Given the description of an element on the screen output the (x, y) to click on. 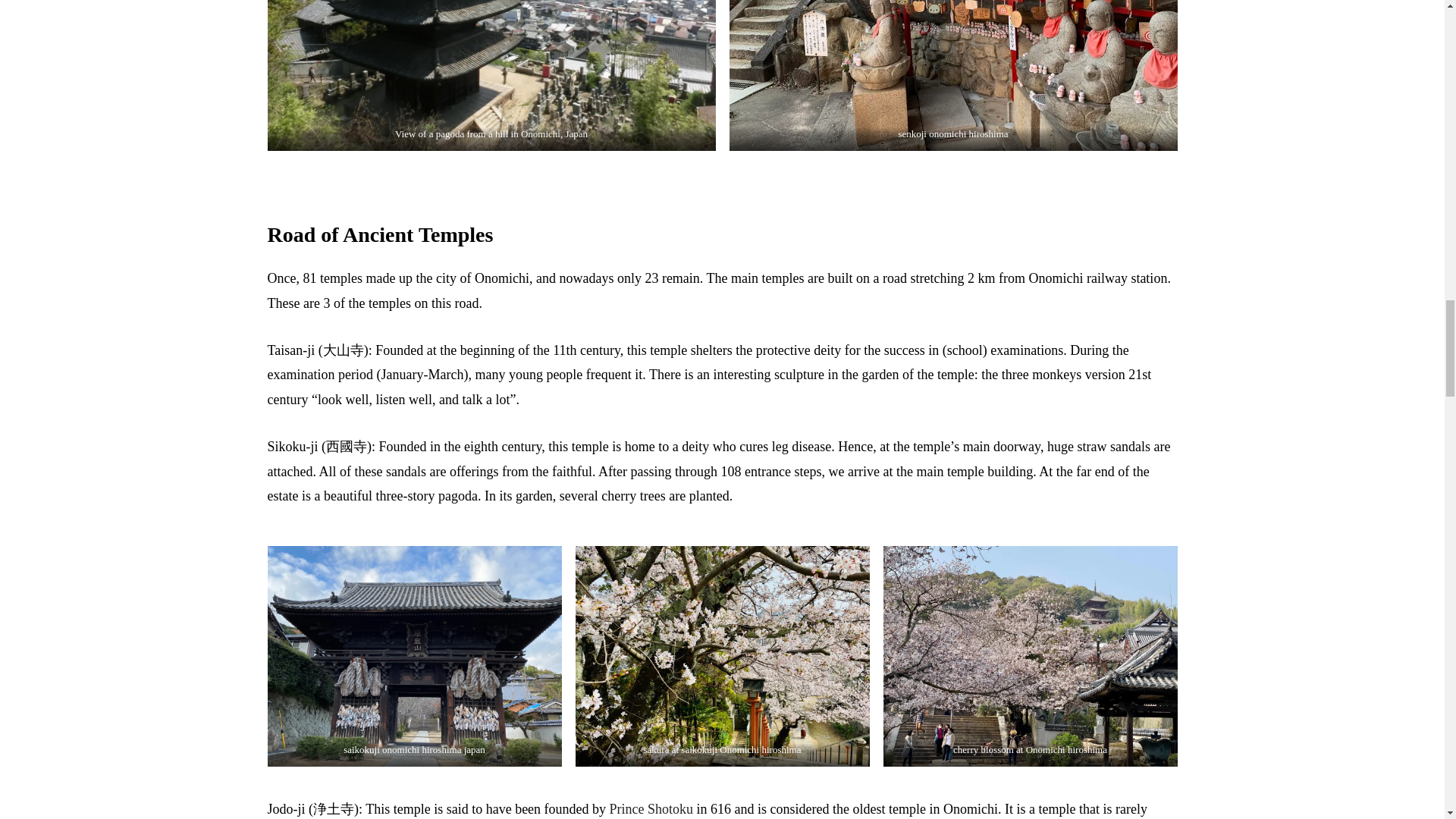
Prince Shotoku (652, 810)
